Given the description of an element on the screen output the (x, y) to click on. 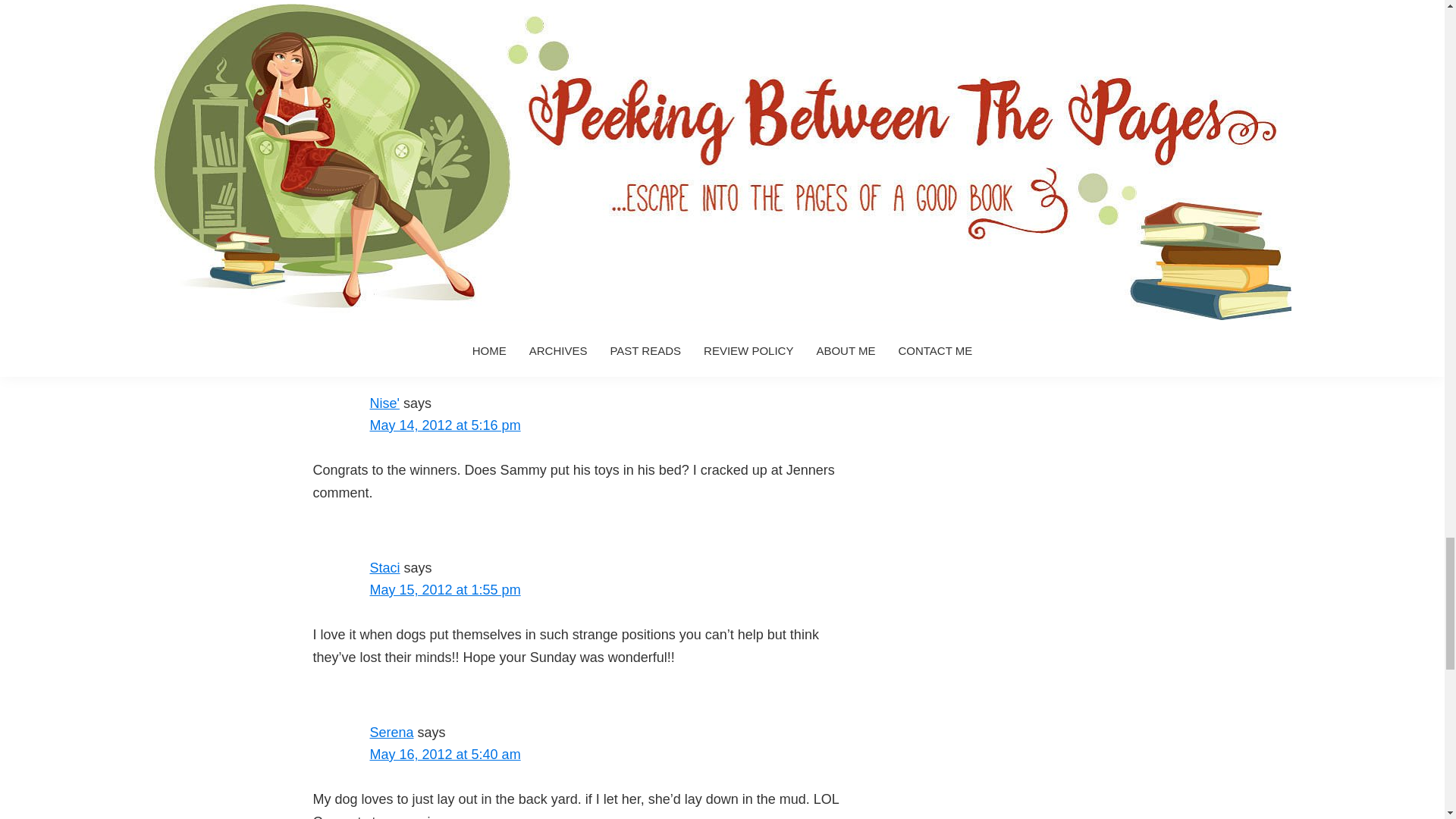
May 14, 2012 at 4:46 pm (445, 260)
zibilee (389, 238)
May 14, 2012 at 3:30 pm (445, 7)
May 14, 2012 at 5:16 pm (445, 425)
Nise' (383, 403)
